Given the description of an element on the screen output the (x, y) to click on. 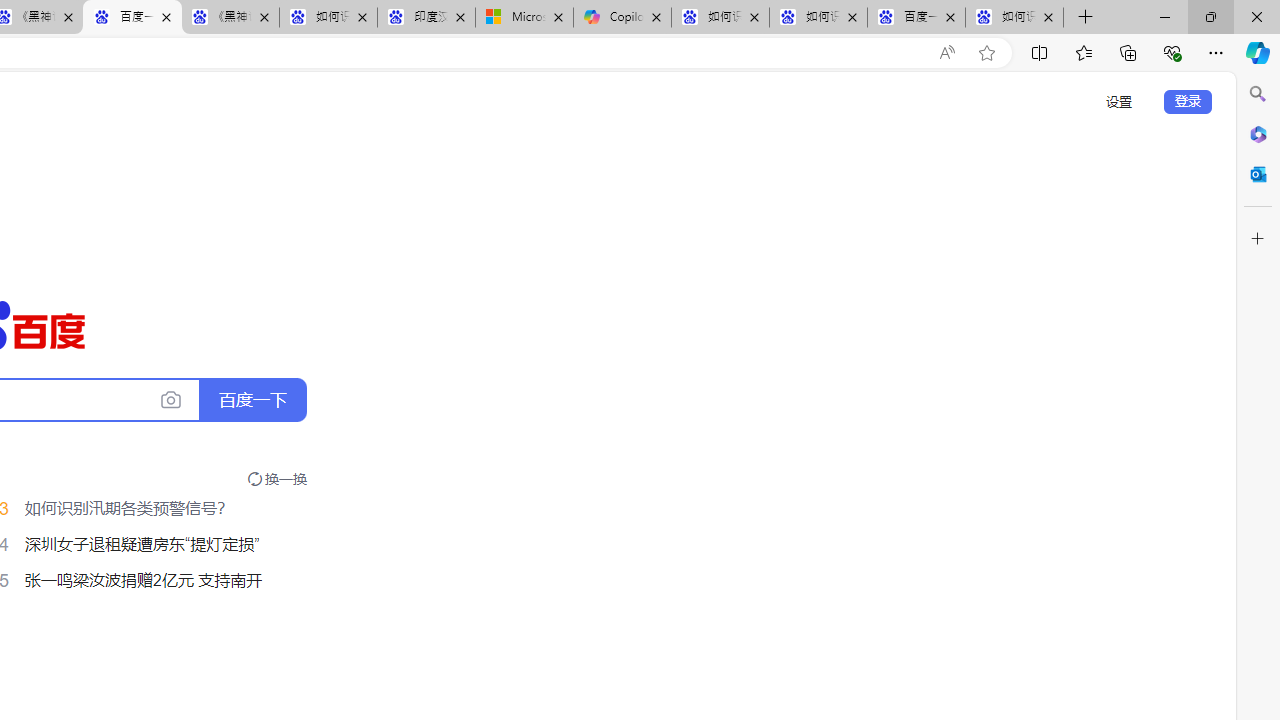
Copilot (621, 17)
